Given the description of an element on the screen output the (x, y) to click on. 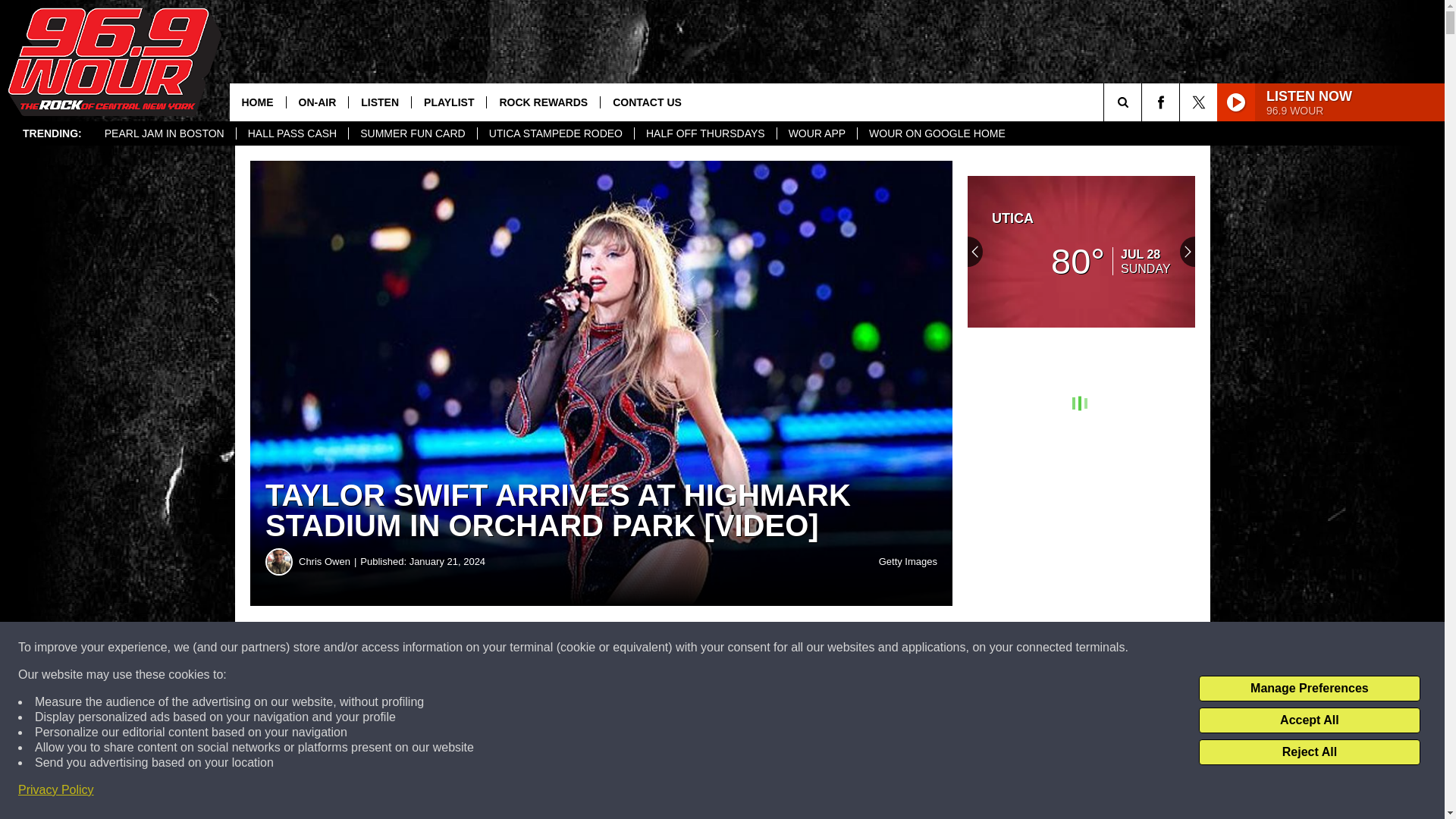
WOUR ON GOOGLE HOME (936, 133)
ROCK REWARDS (542, 102)
HALL PASS CASH (292, 133)
Accept All (1309, 720)
Privacy Policy (55, 789)
ON-AIR (316, 102)
WOUR APP (816, 133)
TRENDING: (52, 133)
LISTEN (378, 102)
PLAYLIST (448, 102)
Reject All (1309, 751)
PEARL JAM IN BOSTON (164, 133)
CONTACT US (646, 102)
HALF OFF THURSDAYS (704, 133)
SUMMER FUN CARD (411, 133)
